Given the description of an element on the screen output the (x, y) to click on. 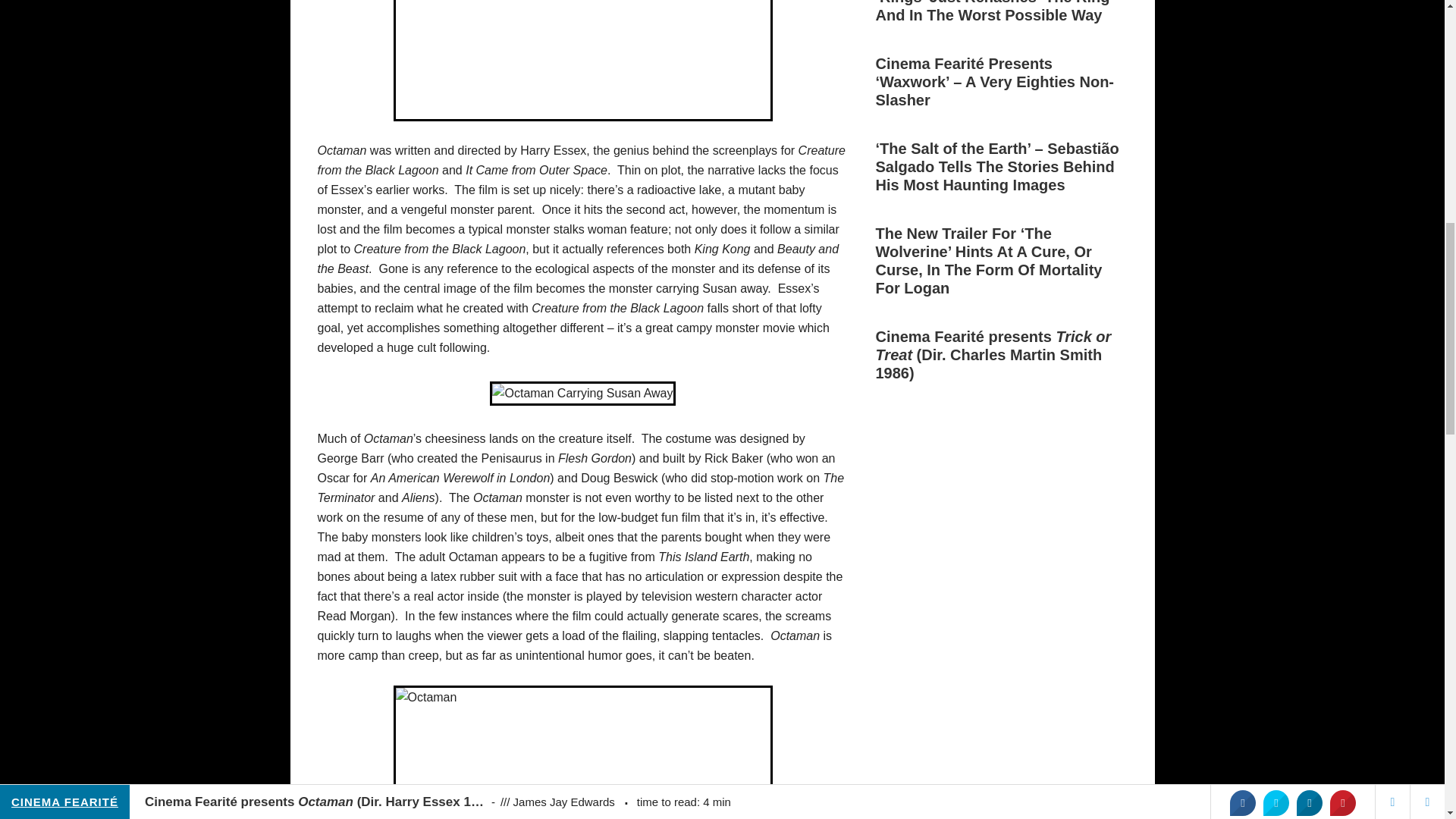
Octaman (582, 752)
Octaman Carrying Susan Away (582, 393)
Octaman (582, 60)
